Given the description of an element on the screen output the (x, y) to click on. 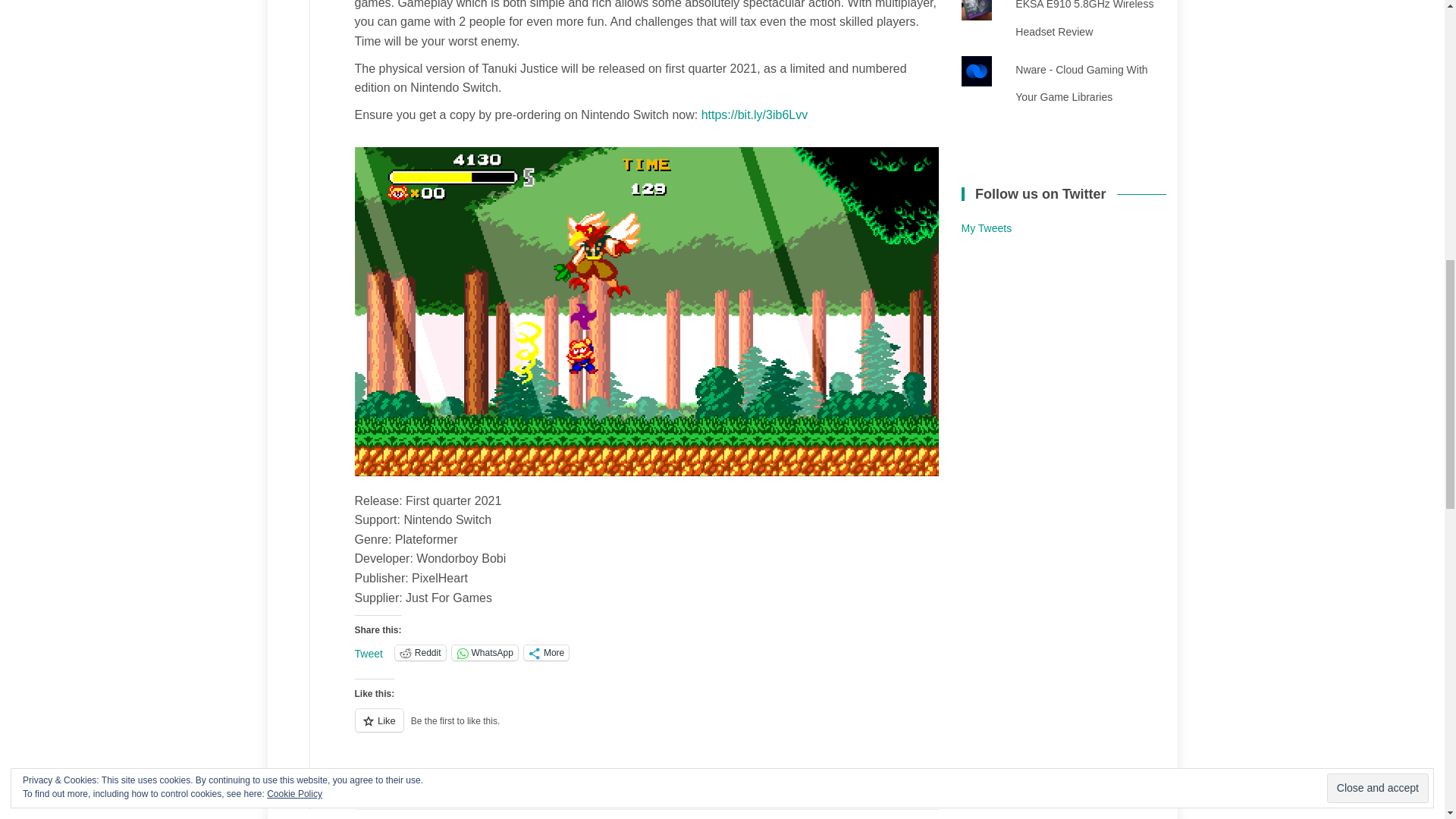
Like or Reblog (647, 729)
Click to share on WhatsApp (484, 652)
More (546, 652)
Gaming (446, 792)
Reddit (419, 652)
Tweet (368, 652)
Click to share on Reddit (419, 652)
thegamesshedadmin (562, 792)
WhatsApp (484, 652)
